Given the description of an element on the screen output the (x, y) to click on. 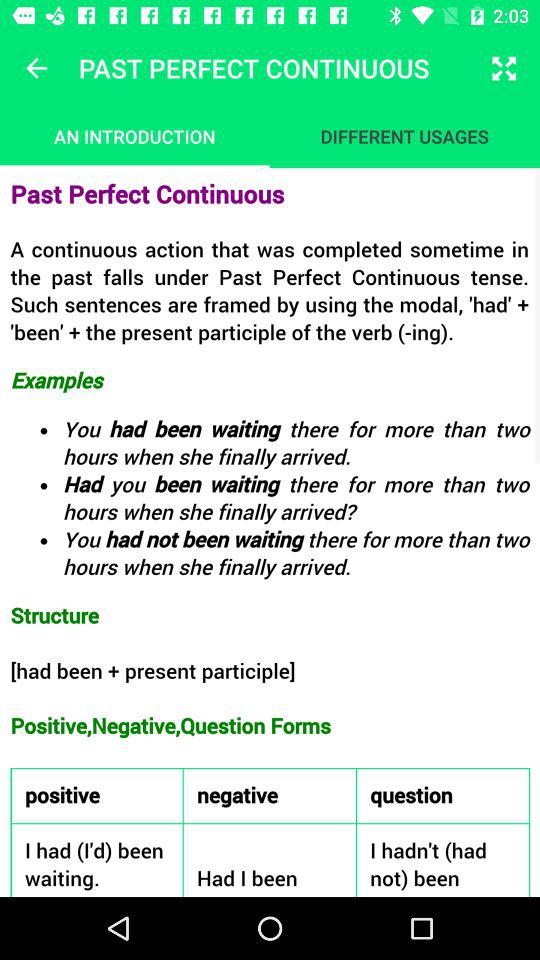
symbol (36, 68)
